Given the description of an element on the screen output the (x, y) to click on. 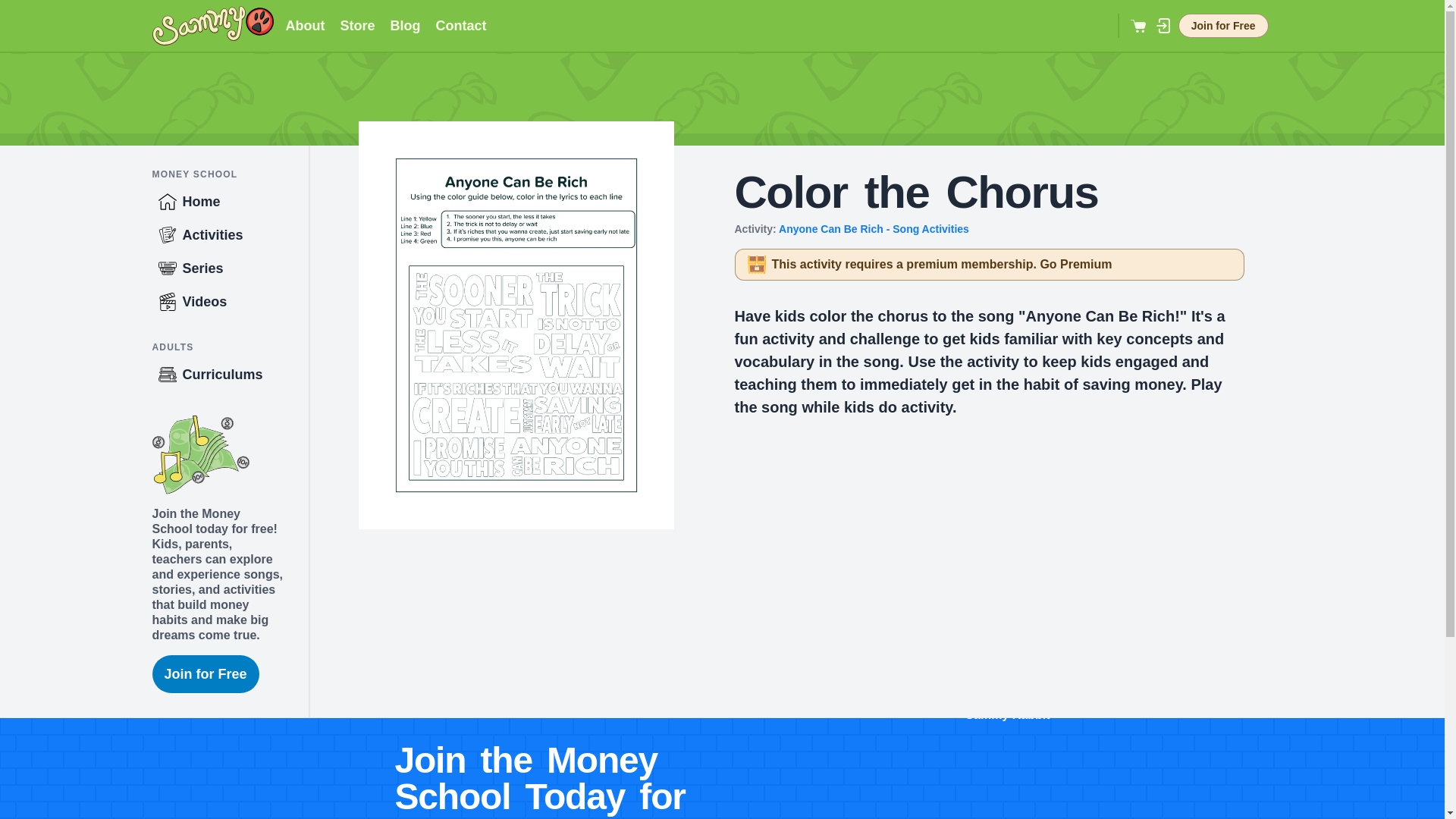
Curriculums (229, 374)
Join for Free (1222, 25)
Store (356, 25)
View Cart (1138, 25)
Home (229, 201)
Join for Free (205, 673)
About (304, 25)
Blog (405, 25)
Go Premium (1075, 264)
Activities (229, 234)
Videos (229, 301)
Contact (460, 25)
Series (229, 268)
Login (1163, 25)
Anyone Can Be Rich - Song Activities (873, 228)
